Given the description of an element on the screen output the (x, y) to click on. 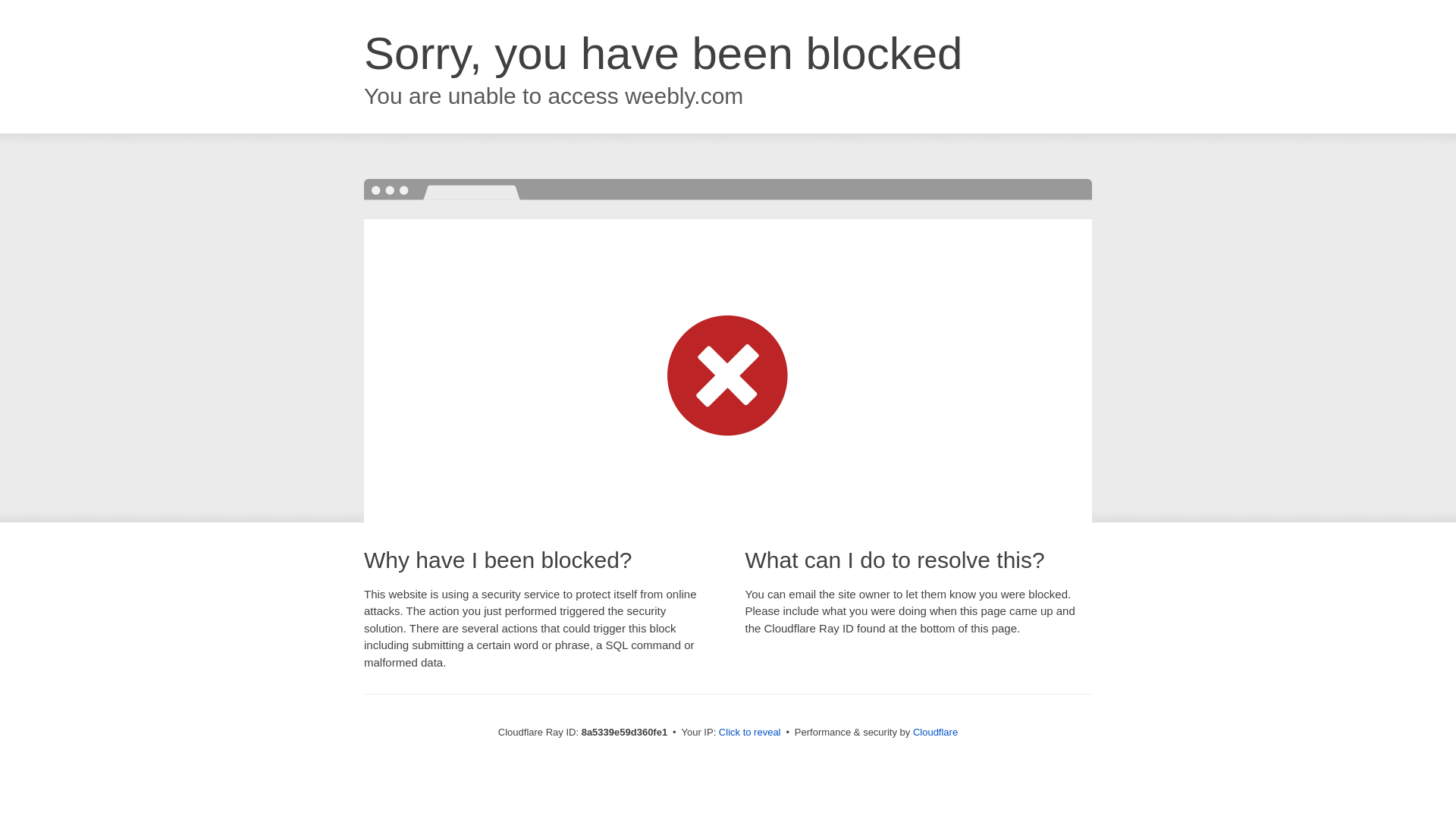
Click to reveal (749, 732)
Cloudflare (935, 731)
